Given the description of an element on the screen output the (x, y) to click on. 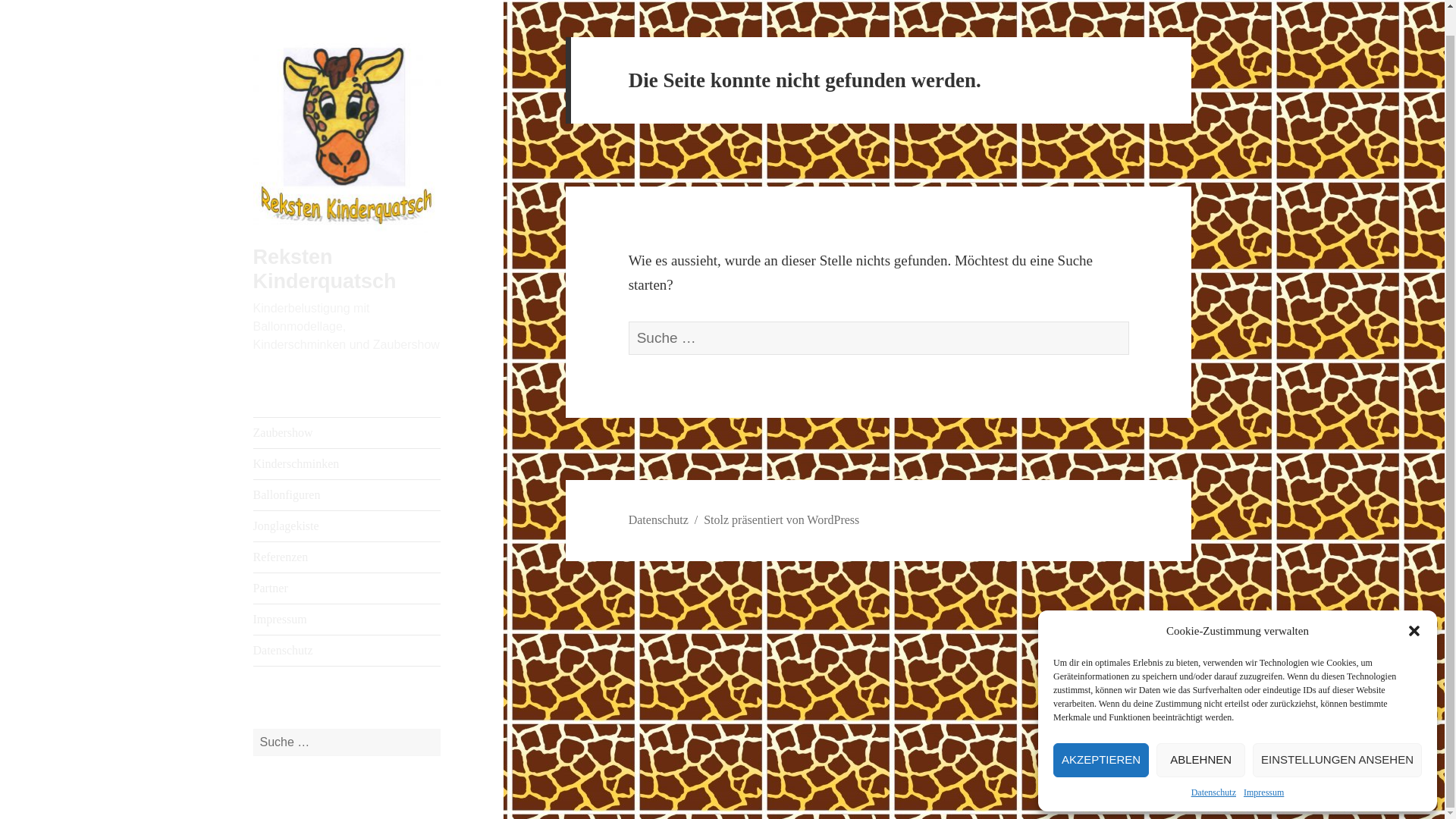
Datenschutz (658, 520)
AKZEPTIEREN (1100, 734)
Jonglagekiste (347, 526)
Referenzen (347, 557)
Partner (347, 588)
Impressum (1263, 766)
Impressum (347, 619)
ABLEHNEN (1200, 734)
Zaubershow (347, 432)
